Given the description of an element on the screen output the (x, y) to click on. 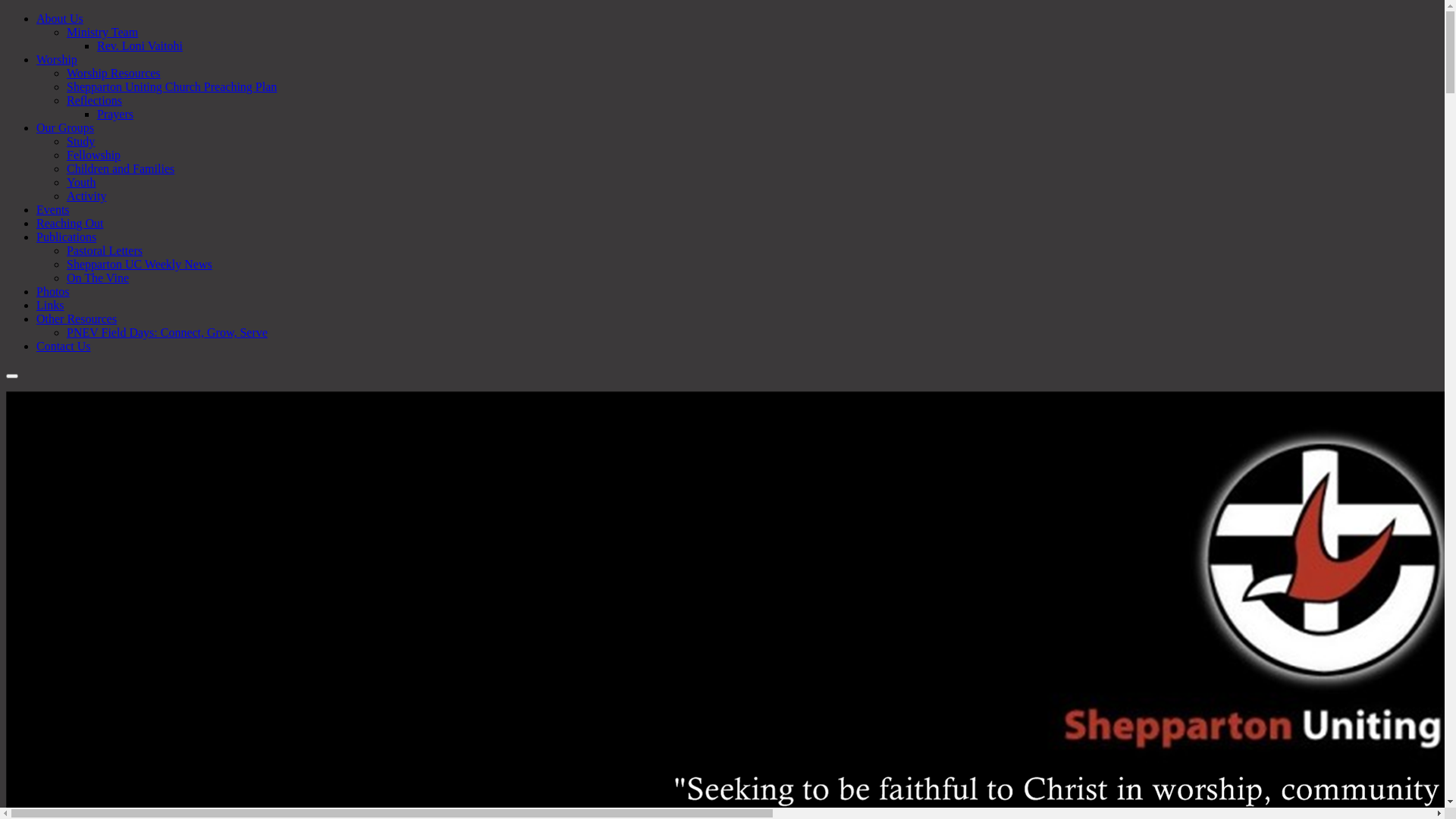
About Us Element type: text (59, 18)
PNEV Field Days: Connect, Grow, Serve Element type: text (166, 332)
Youth Element type: text (80, 181)
Our Groups Element type: text (65, 127)
Ministry Team Element type: text (102, 31)
Shepparton Uniting Church Preaching Plan Element type: text (171, 86)
Children and Families Element type: text (120, 168)
Contact Us Element type: text (63, 345)
Worship Resources Element type: text (113, 72)
Links Element type: text (49, 304)
Activity Element type: text (86, 195)
Other Resources Element type: text (76, 318)
Rev. Loni Vaitohi Element type: text (139, 45)
Reflections Element type: text (94, 100)
Worship Element type: text (56, 59)
Prayers Element type: text (115, 113)
Photos Element type: text (52, 291)
Publications Element type: text (66, 236)
Pastoral Letters Element type: text (104, 250)
On The Vine Element type: text (97, 277)
Fellowship Element type: text (93, 154)
Events Element type: text (52, 209)
Study Element type: text (80, 140)
Shepparton UC Weekly News Element type: text (139, 263)
Reaching Out Element type: text (69, 222)
